Given the description of an element on the screen output the (x, y) to click on. 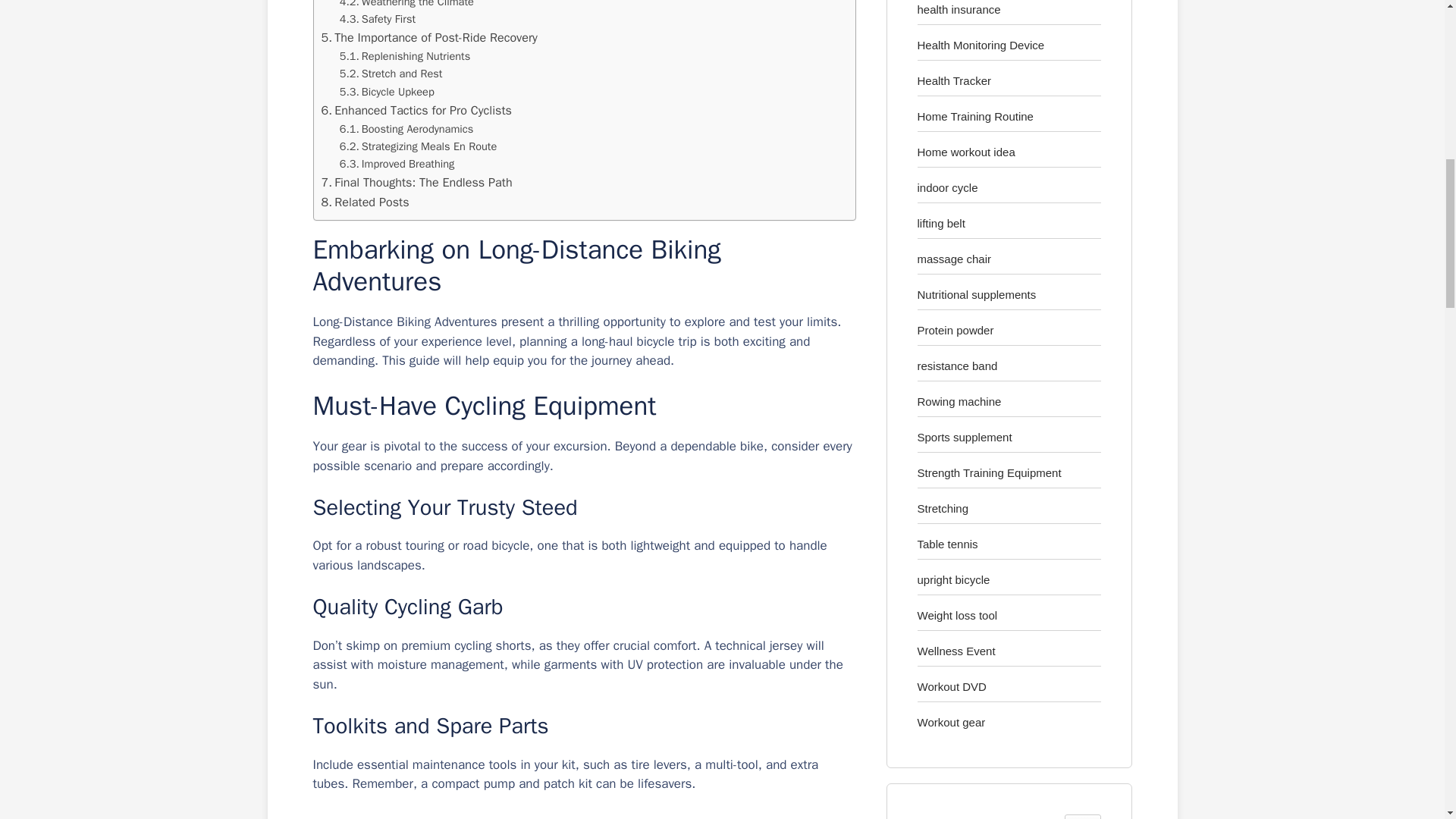
Safety First (376, 18)
The Importance of Post-Ride Recovery (429, 37)
Replenishing Nutrients (404, 56)
Weathering the Climate (406, 5)
Final Thoughts: The Endless Path (416, 182)
Stretch and Rest (390, 73)
Enhanced Tactics for Pro Cyclists (416, 110)
Safety First (376, 18)
Bicycle Upkeep (386, 91)
Boosting Aerodynamics (406, 129)
